Given the description of an element on the screen output the (x, y) to click on. 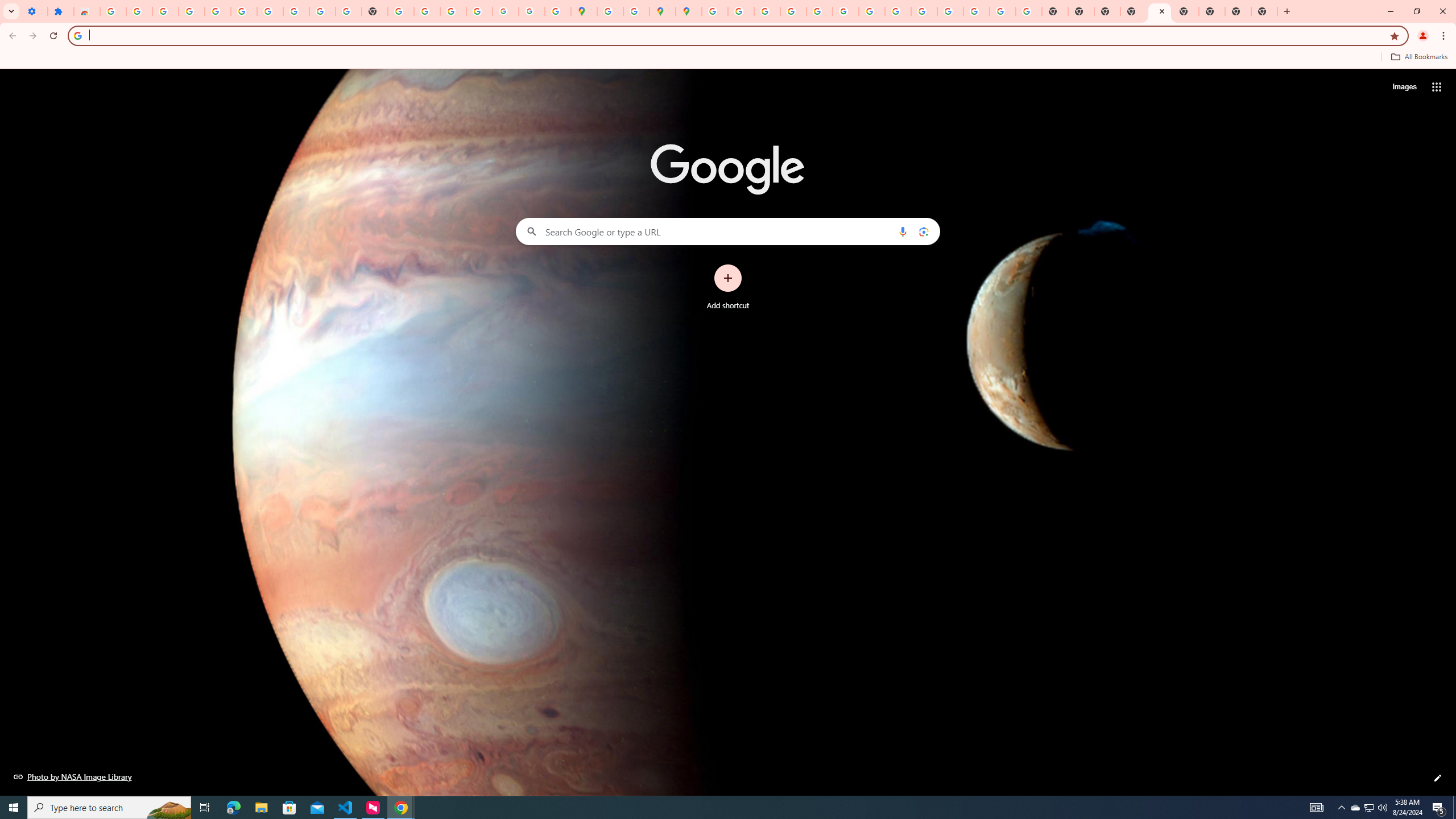
You (1422, 35)
Sign in - Google Accounts (112, 11)
Add shortcut (727, 287)
Search icon (77, 35)
Sign in - Google Accounts (243, 11)
Google Images (1028, 11)
Bookmarks (728, 58)
Address and search bar (735, 35)
Search by image (922, 230)
Google apps (1436, 86)
Bookmark this tab (1393, 35)
